Given the description of an element on the screen output the (x, y) to click on. 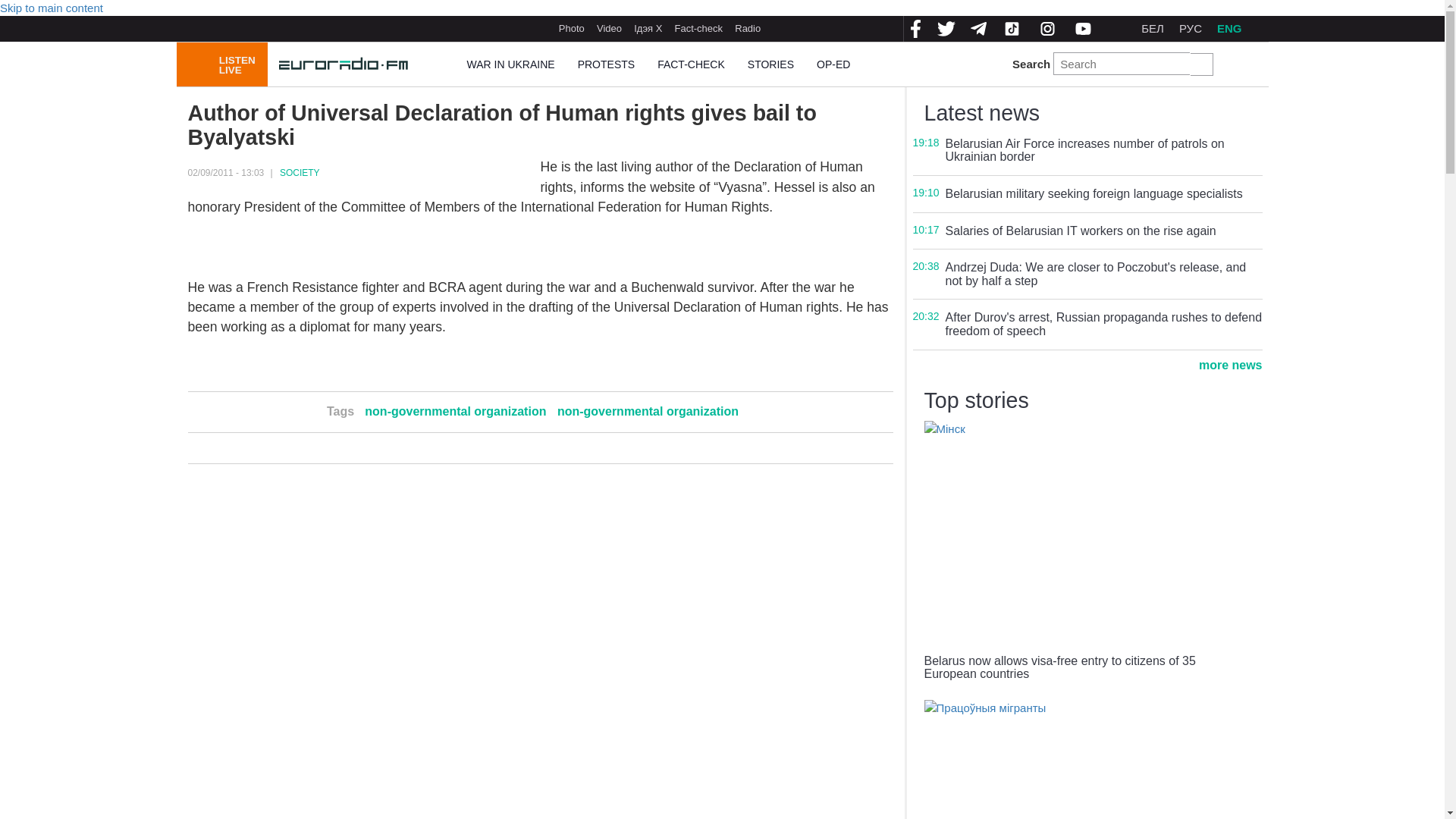
Skip to main content (51, 7)
non-governmental organization (455, 410)
WAR IN UKRAINE (510, 65)
Enter the terms you wish to search for. (1120, 63)
PROTESTS (606, 65)
SOCIETY (299, 172)
non-governmental organization (647, 410)
Search (1201, 64)
Video (609, 27)
